Given the description of an element on the screen output the (x, y) to click on. 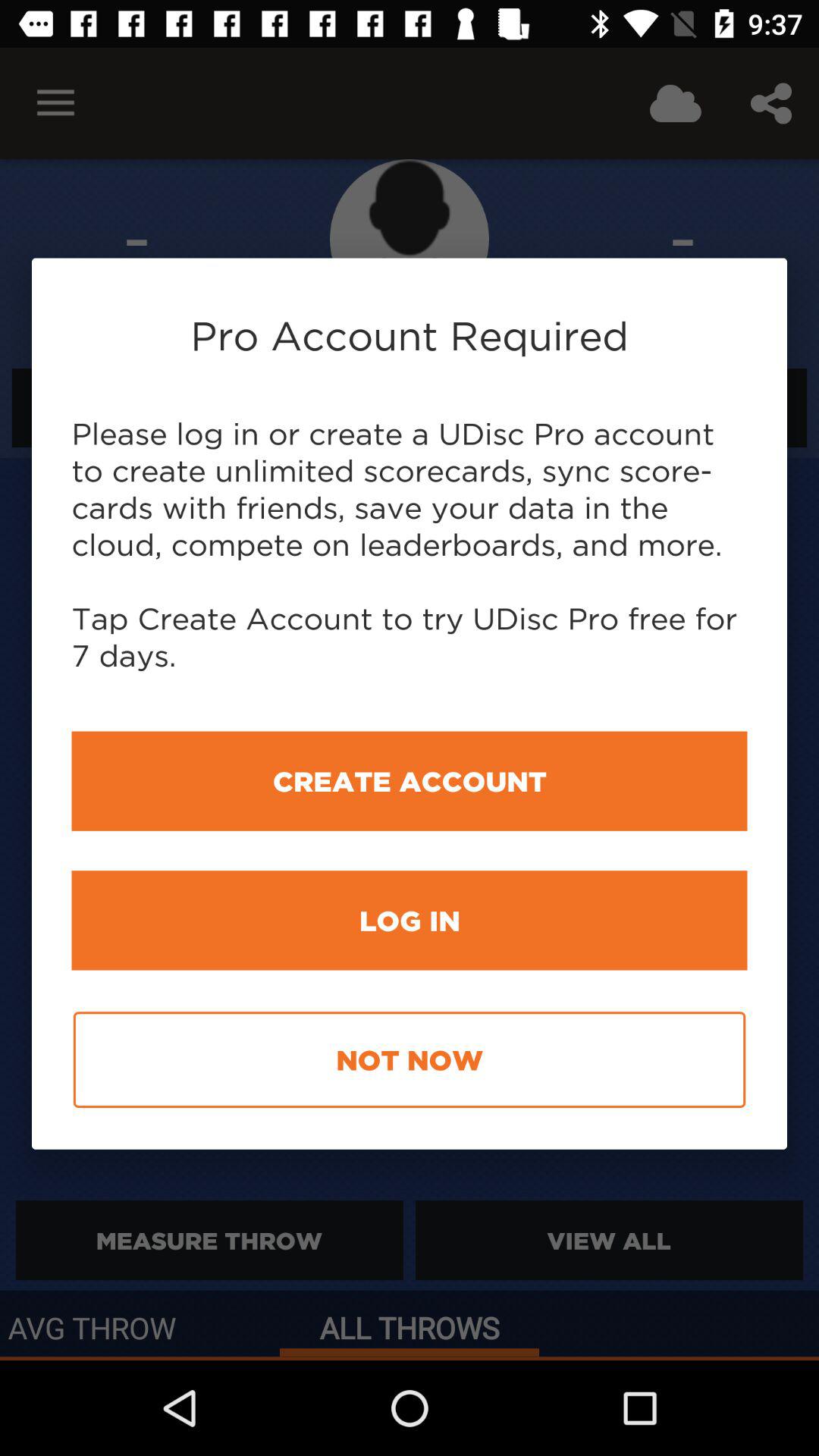
select item below log in icon (409, 1059)
